Given the description of an element on the screen output the (x, y) to click on. 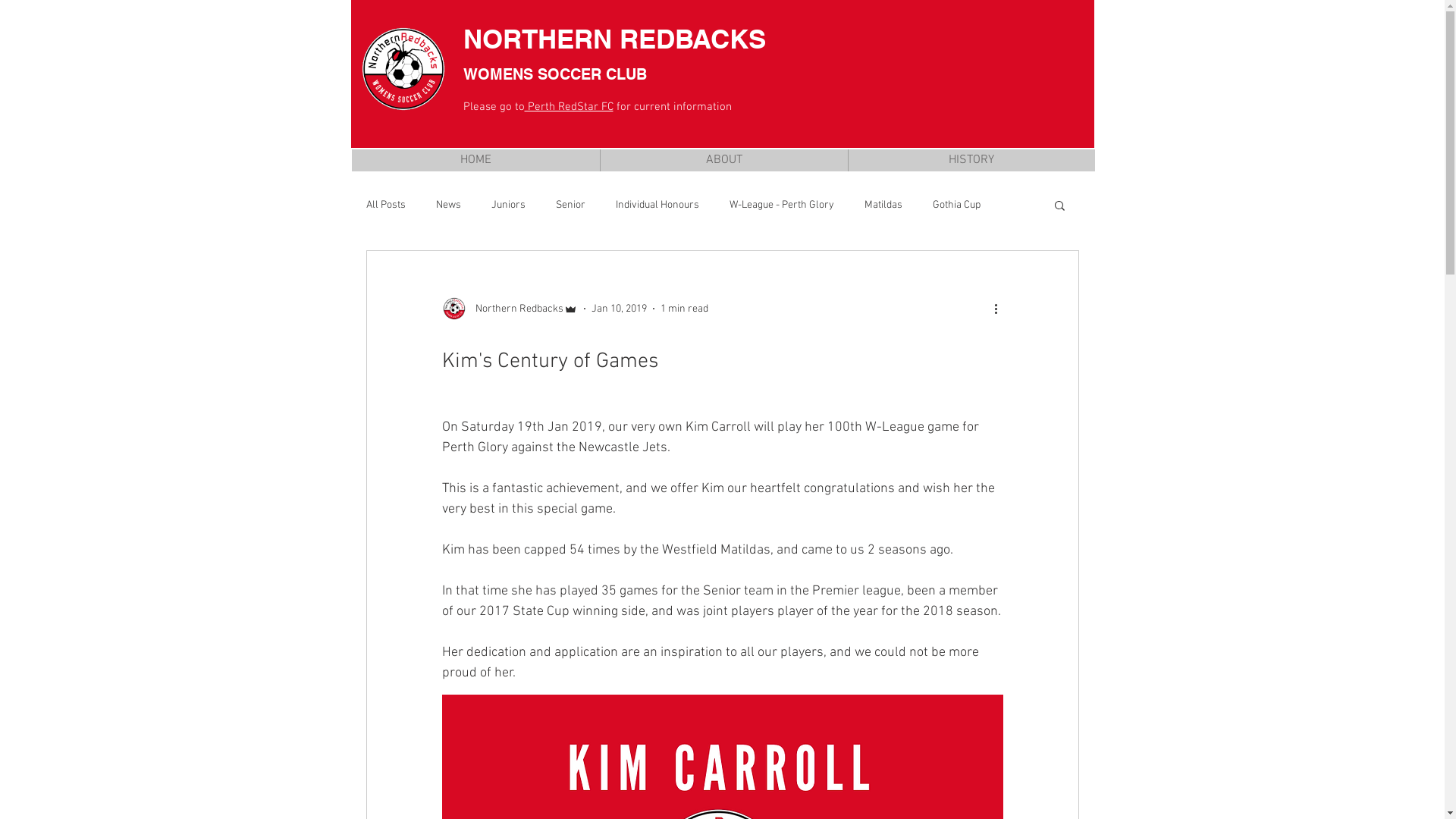
Juniors Element type: text (508, 204)
Senior Element type: text (569, 204)
All Posts Element type: text (384, 204)
HOME Element type: text (475, 160)
HISTORY Element type: text (971, 160)
NORTHERN REDBACKS Element type: text (613, 38)
News Element type: text (447, 204)
Matildas Element type: text (883, 204)
Perth RedStar FC Element type: text (568, 106)
WOMENS SOCCER CLUB  Element type: text (556, 74)
Gothia Cup Element type: text (956, 204)
W-League - Perth Glory Element type: text (781, 204)
Individual Honours Element type: text (657, 204)
Northern Redbacks Element type: text (509, 308)
